Given the description of an element on the screen output the (x, y) to click on. 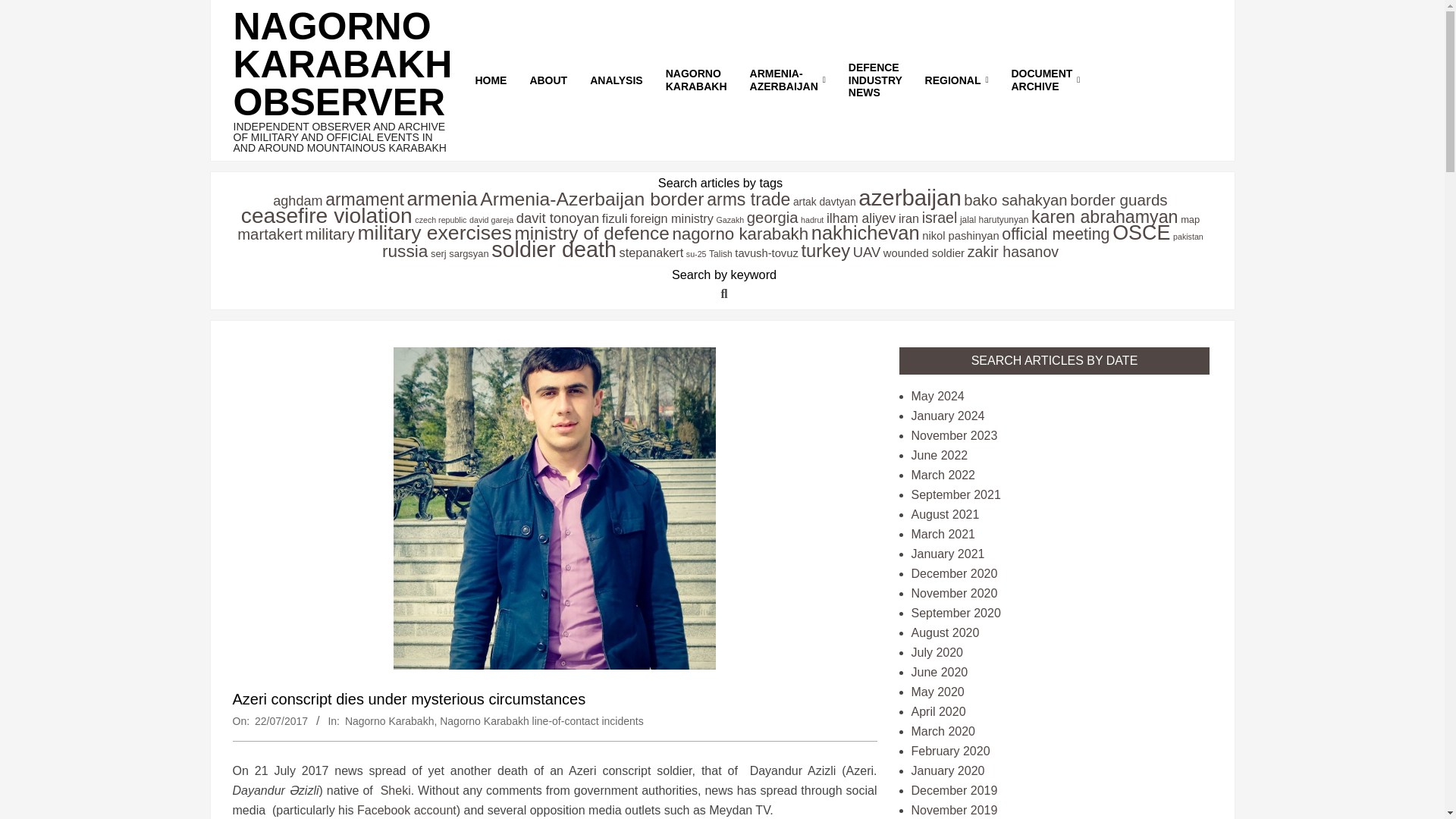
NAGORNO KARABAKH OBSERVER (342, 63)
ARMENIA-AZERBAIJAN (787, 80)
ANALYSIS (615, 80)
DOCUMENT ARCHIVE (1044, 80)
armament (364, 199)
aghdam (297, 200)
armenia (441, 198)
REGIONAL (957, 80)
Saturday, July 22, 2017, 10:11 pm (280, 720)
ABOUT (548, 80)
